Given the description of an element on the screen output the (x, y) to click on. 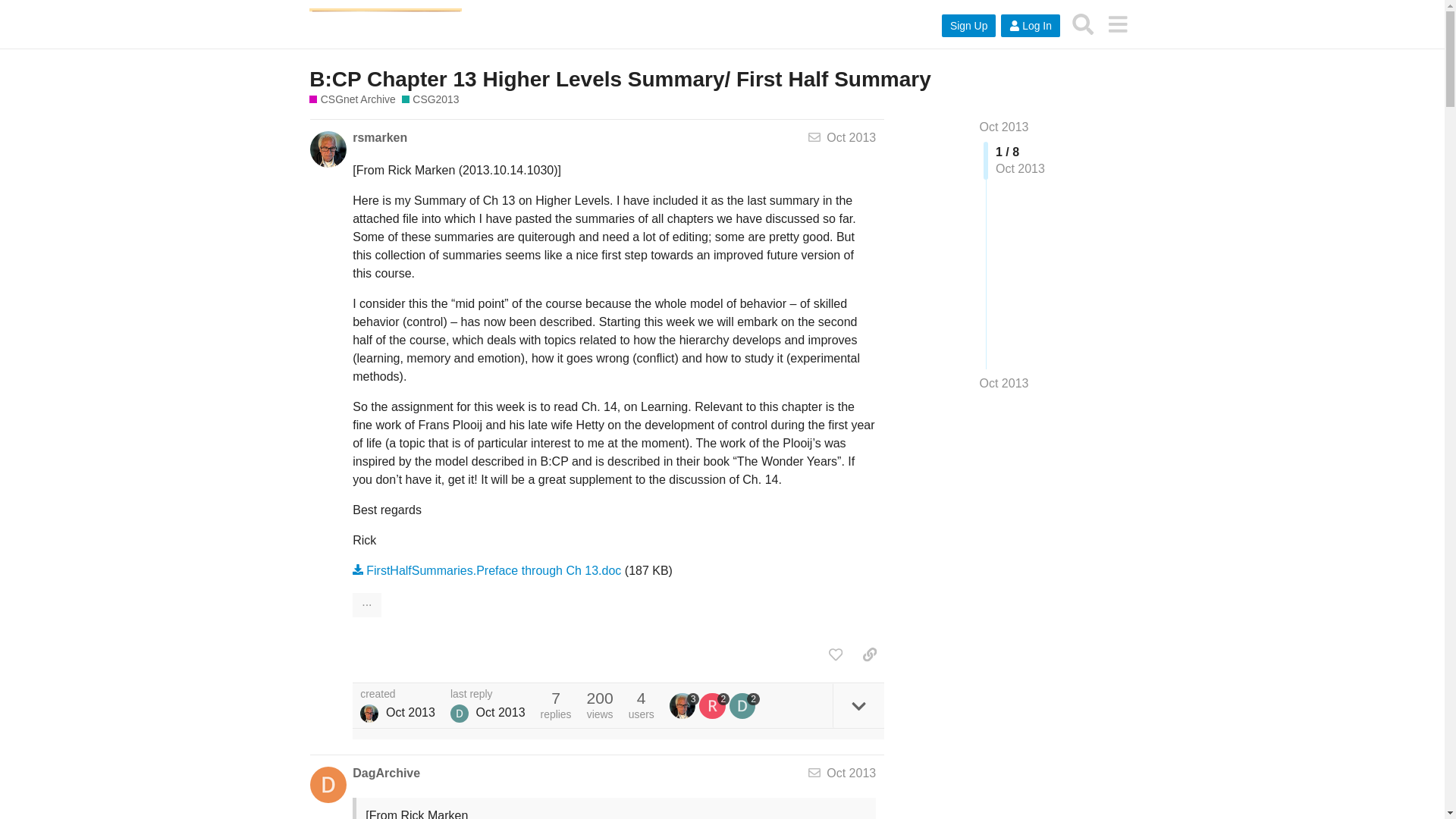
Search (1082, 23)
Oct 2013 (851, 137)
2 (713, 705)
Log In (1030, 25)
last reply (487, 694)
Jump to the first post (1004, 126)
3 (684, 705)
CSGnet Archive (352, 99)
Oct 15, 2013 1:30 am (410, 712)
like this post (835, 654)
